Given the description of an element on the screen output the (x, y) to click on. 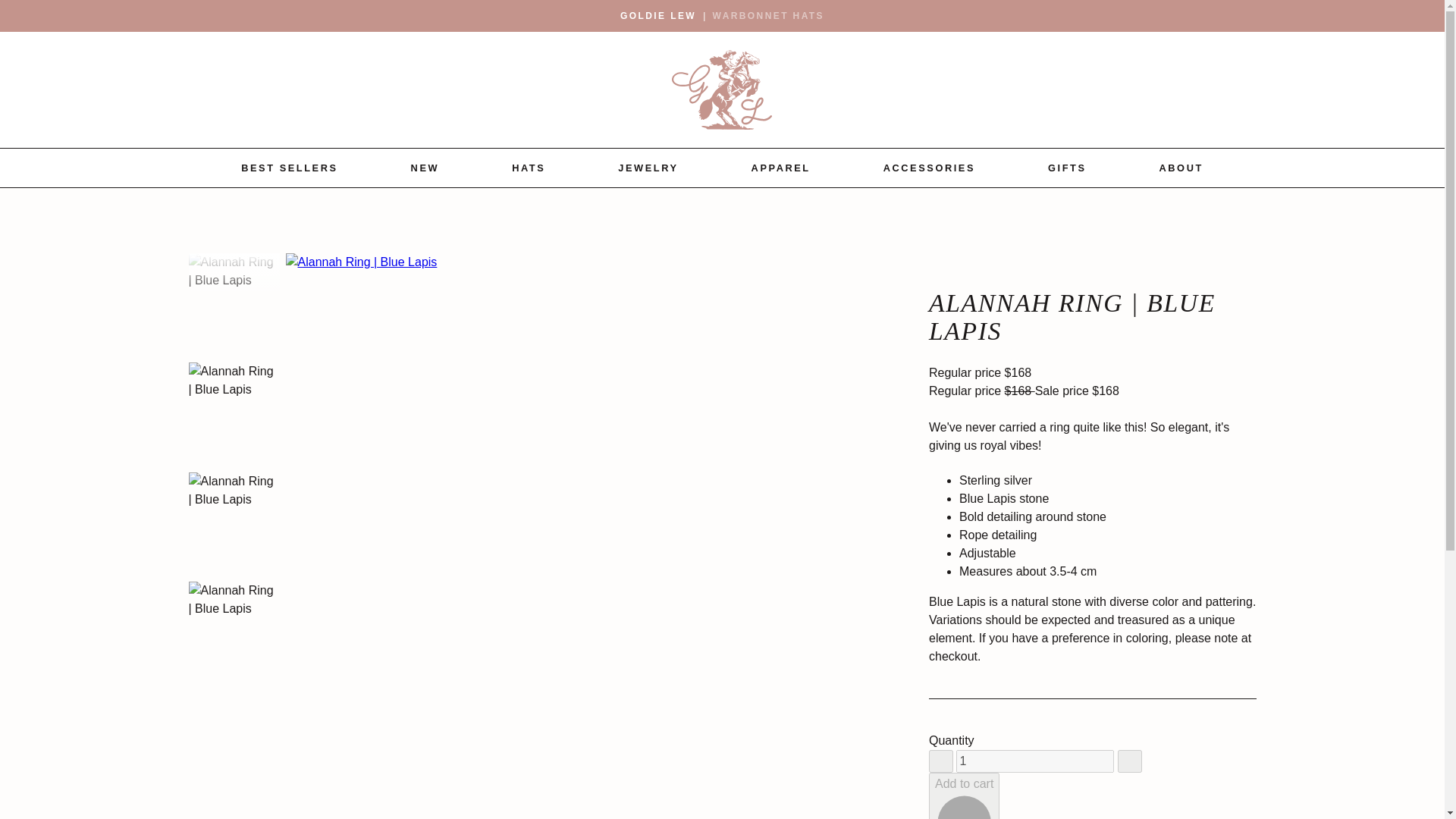
JEWELRY (647, 167)
GIFTS (1067, 167)
Add to cart (963, 795)
APPAREL (780, 167)
ACCESSORIES (929, 167)
HATS (528, 167)
GOLDIE LEW (657, 15)
NEW (424, 167)
BEST SELLERS (289, 167)
ABOUT (1181, 167)
